Given the description of an element on the screen output the (x, y) to click on. 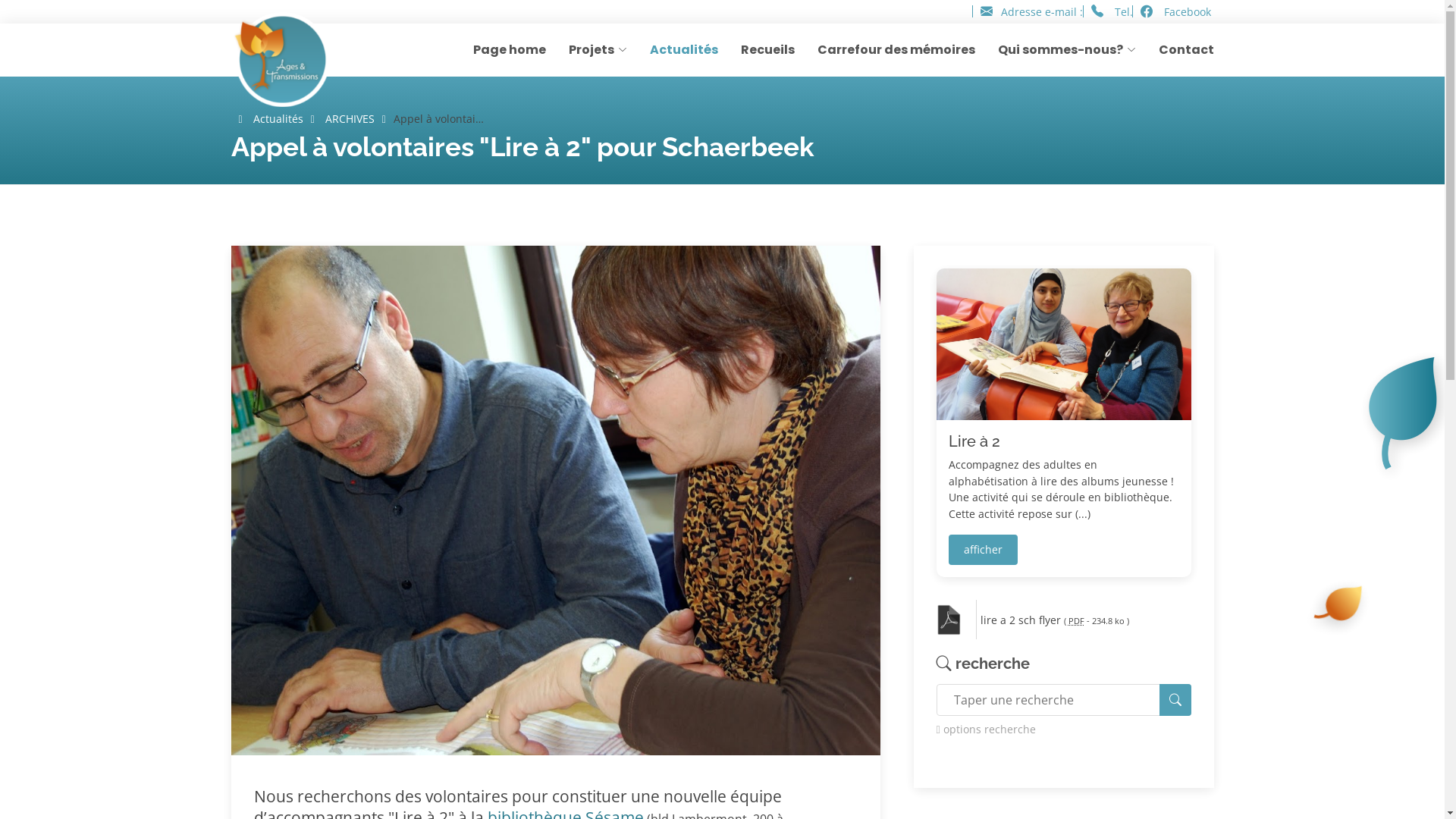
Facebook Element type: hover (1145, 11)
Recueils Element type: text (755, 49)
ARCHIVES Element type: text (349, 118)
Qui sommes-nous? Element type: text (1055, 49)
Tel. Element type: hover (1096, 11)
Contact Element type: text (1174, 49)
Facebook Element type: text (1172, 11)
options recherche Element type: text (1062, 728)
lire a 2 sch flyer ( PDF - 234.8 ko ) Element type: text (1085, 619)
Page home Element type: text (495, 49)
Adresse e-mail : Element type: hover (986, 11)
Bureau - Sylvie Lerot & Marie Dehou +32 (0)2 514 45 61 Element type: text (1235, 10)
Projets Element type: text (586, 49)
